Given the description of an element on the screen output the (x, y) to click on. 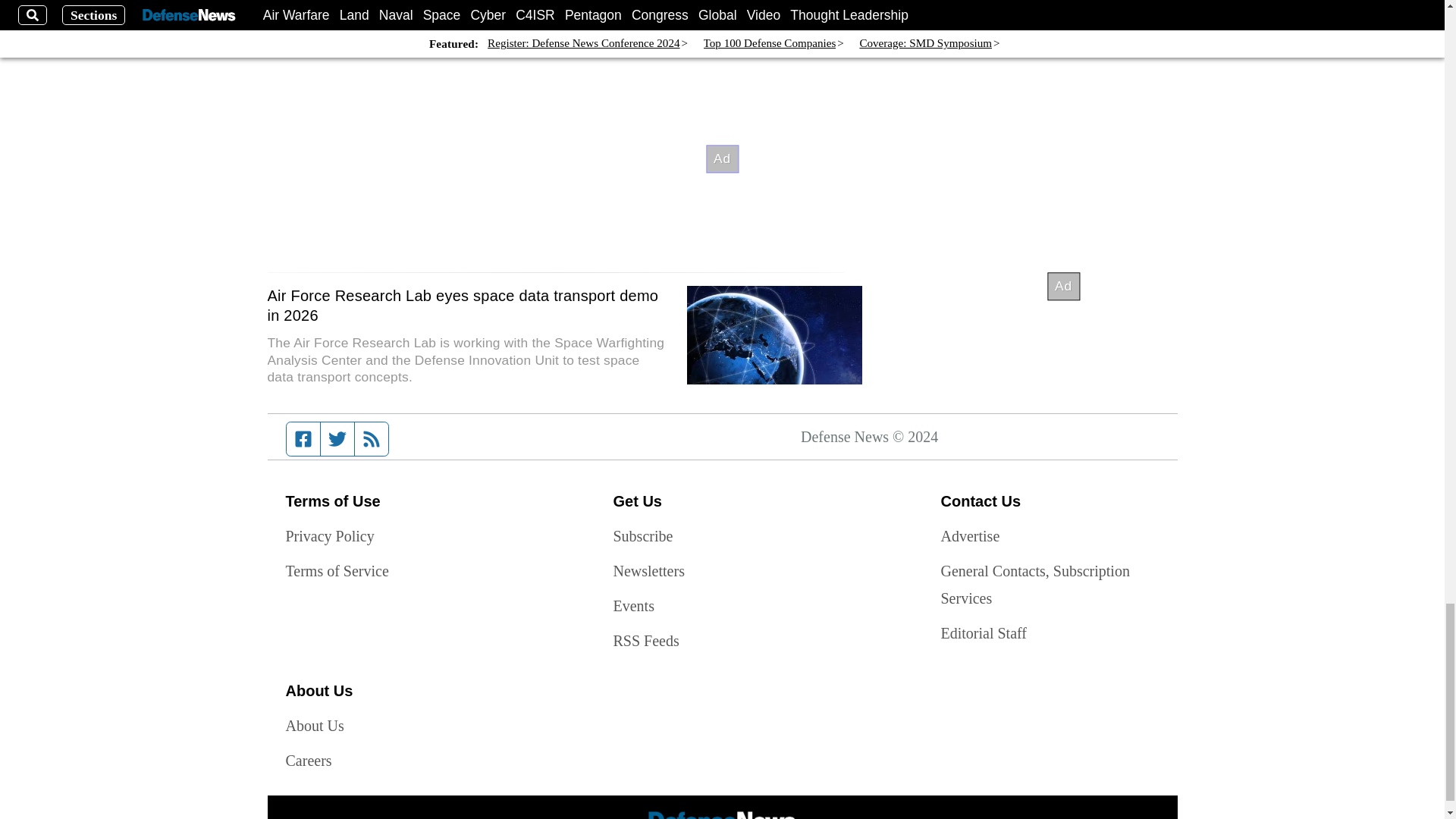
Twitter feed (336, 438)
RSS feed (371, 438)
Facebook page (303, 438)
